Given the description of an element on the screen output the (x, y) to click on. 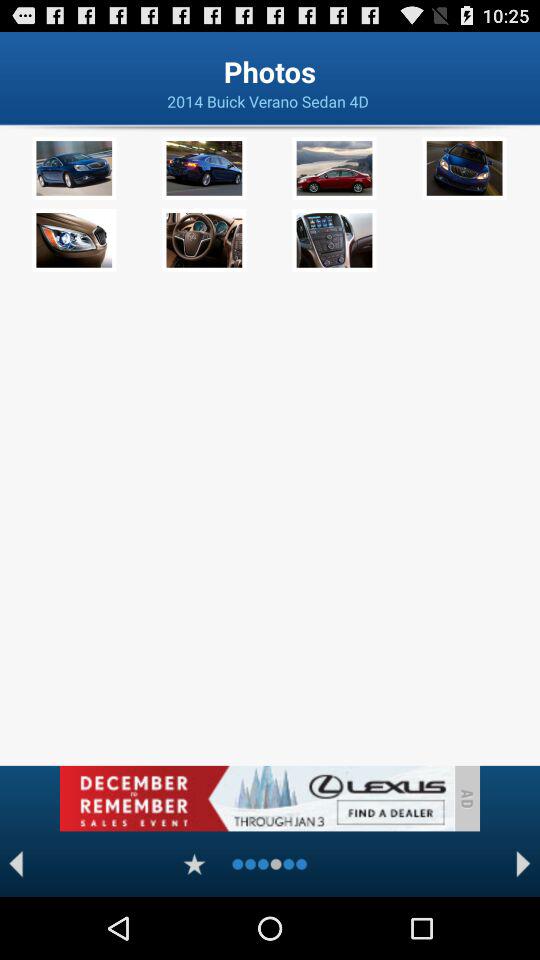
go back (16, 864)
